Given the description of an element on the screen output the (x, y) to click on. 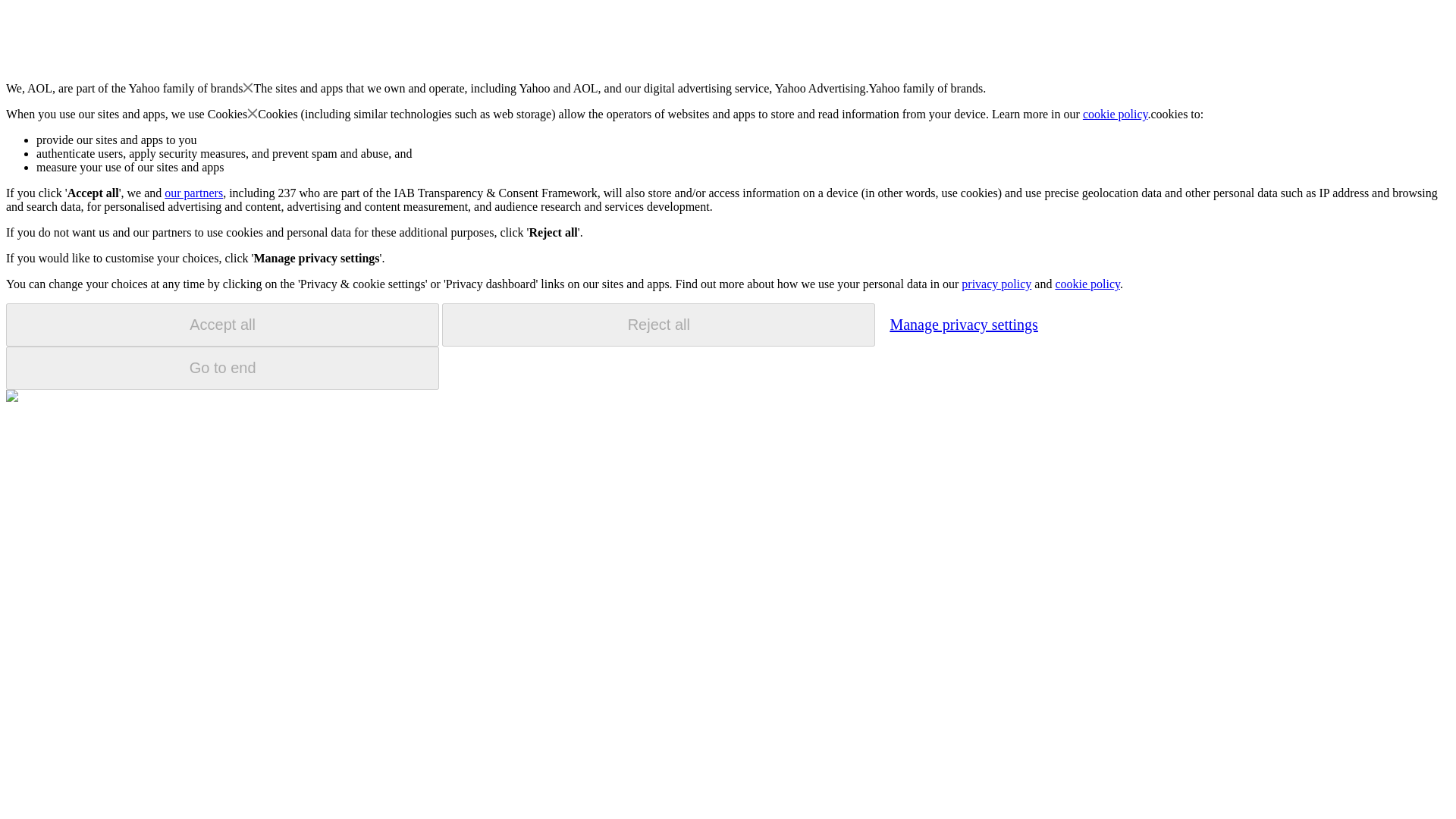
Go to end (222, 367)
our partners (193, 192)
cookie policy (1086, 283)
privacy policy (995, 283)
Accept all (222, 324)
cookie policy (1115, 113)
Manage privacy settings (963, 323)
Reject all (658, 324)
